Given the description of an element on the screen output the (x, y) to click on. 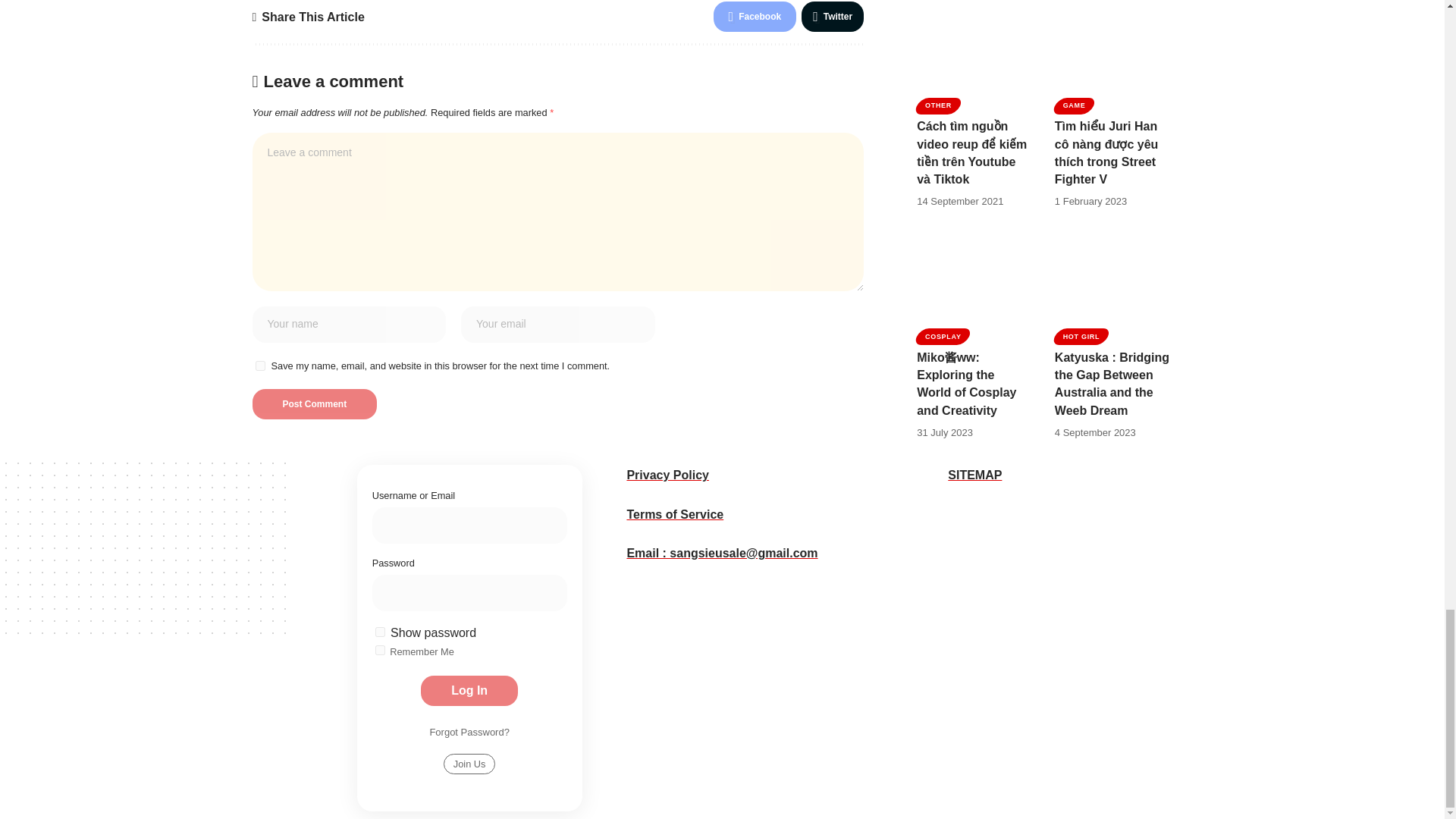
Post Comment (314, 259)
yes (259, 221)
on (608, 500)
Log In (721, 558)
on (608, 518)
